Given the description of an element on the screen output the (x, y) to click on. 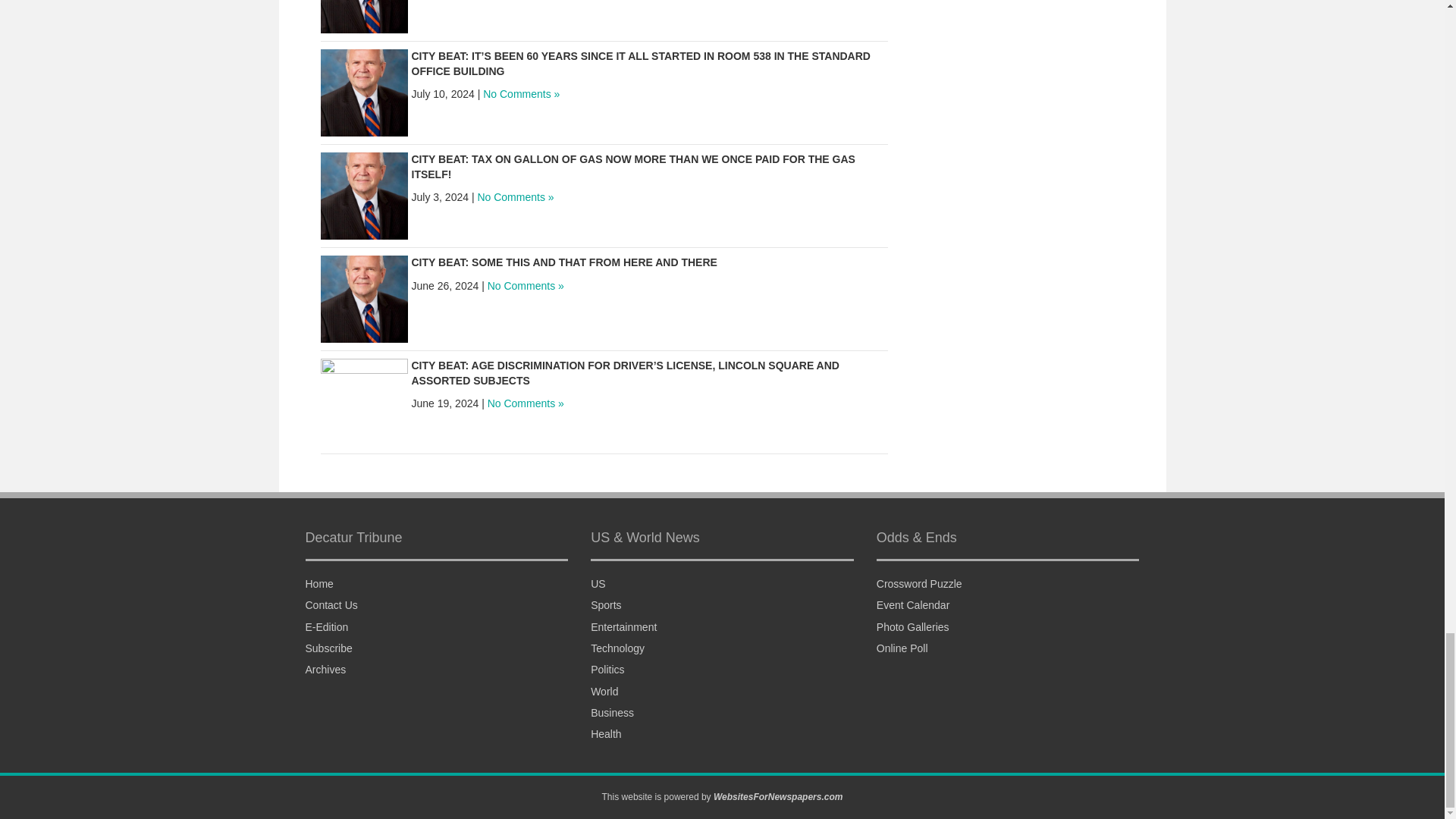
CITY BEAT: SOME THIS AND THAT FROM HERE AND THERE (563, 262)
CITY BEAT: SOME THIS AND THAT FROM HERE AND THERE (363, 297)
